Given the description of an element on the screen output the (x, y) to click on. 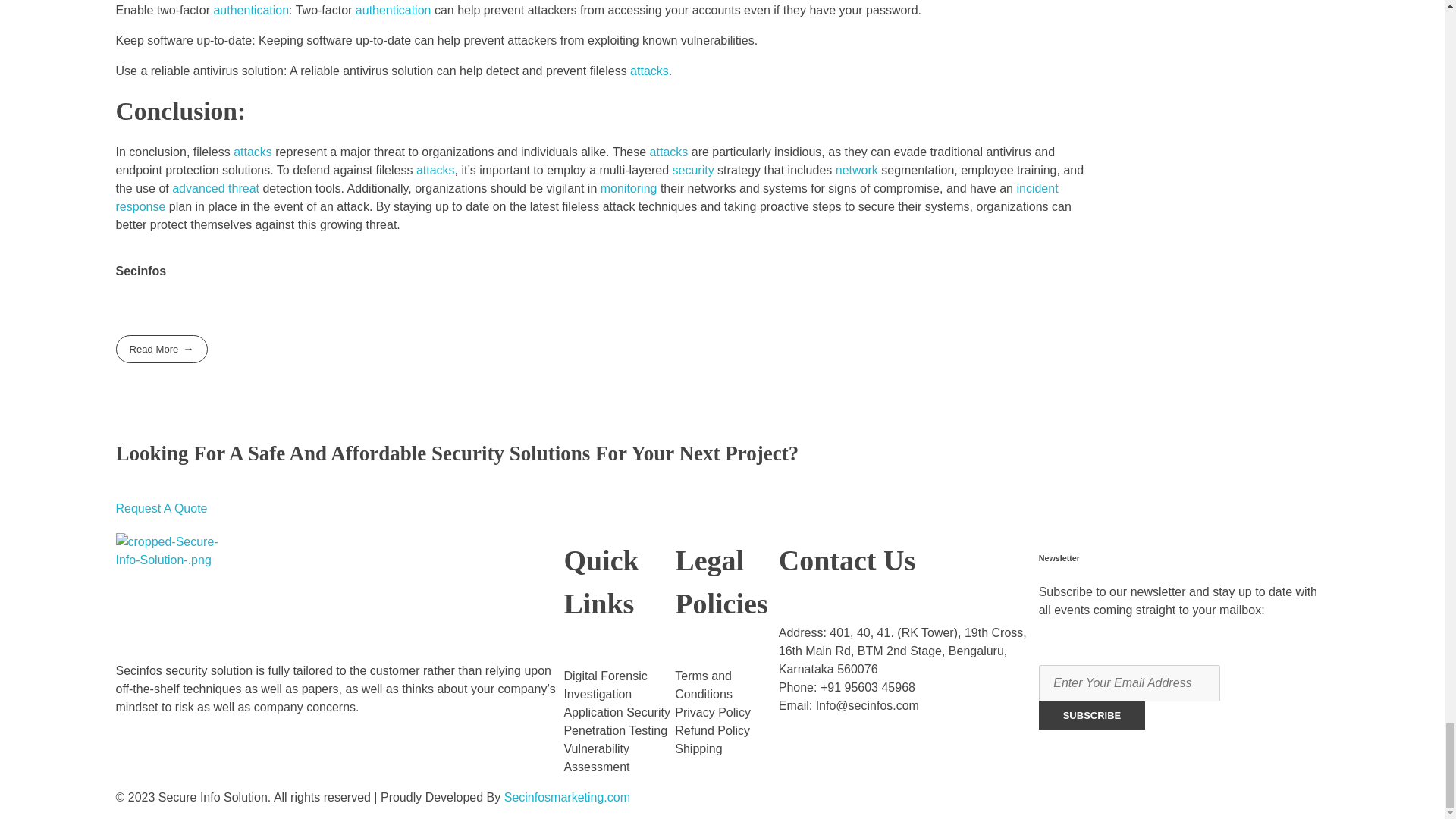
Subscribe (1092, 715)
